Given the description of an element on the screen output the (x, y) to click on. 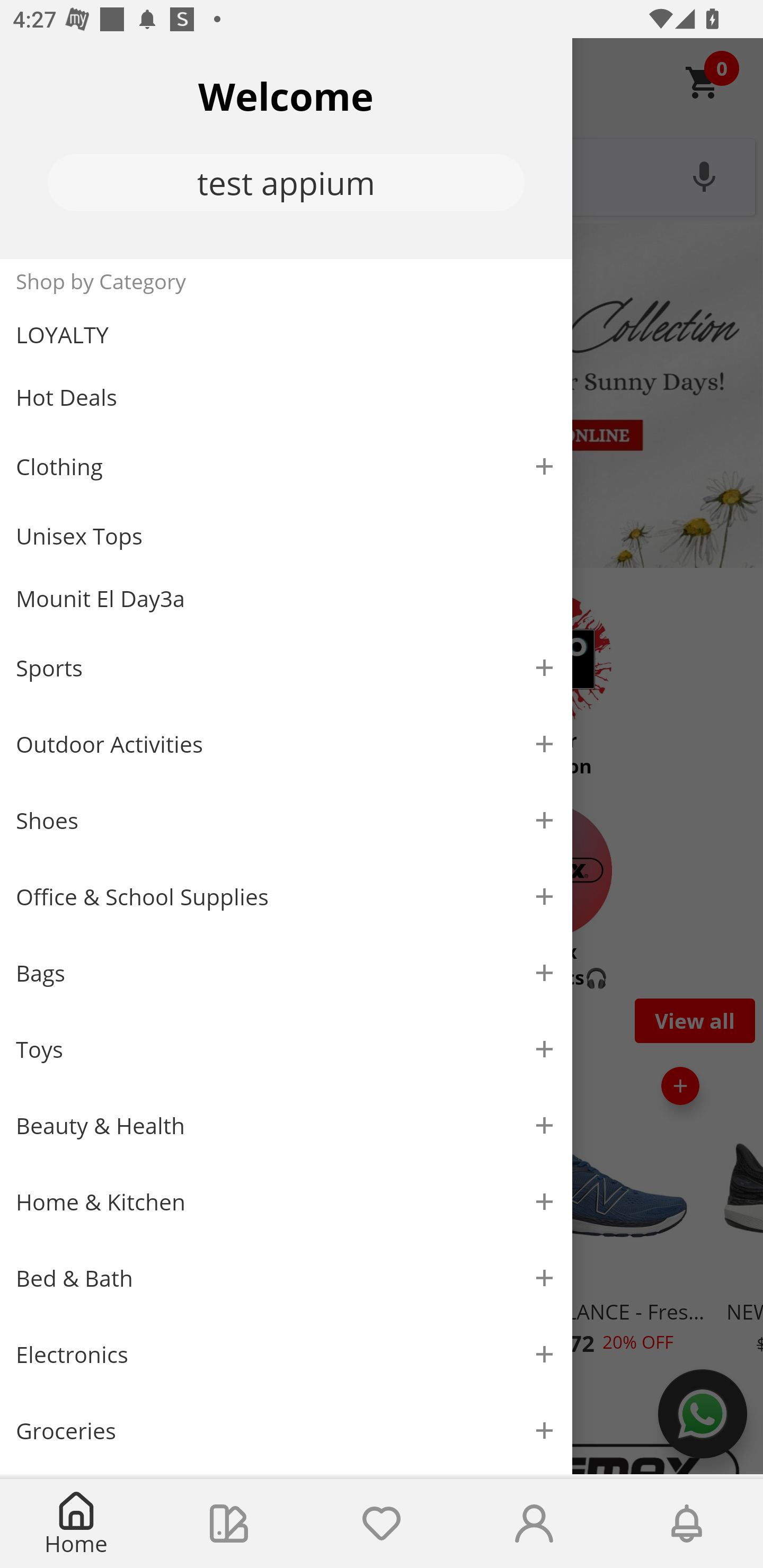
Welcome test appium (286, 147)
What are you looking for? (381, 175)
LOYALTY (286, 334)
Hot Deals (286, 396)
Clothing (286, 466)
Unisex Tops (286, 535)
Mounit El Day3a (286, 598)
Sports (286, 667)
Outdoor Activities (286, 743)
Shoes (286, 820)
Office & School Supplies (286, 896)
Bags (286, 972)
Toys (286, 1049)
Beauty & Health (286, 1125)
Home & Kitchen (286, 1201)
Bed & Bath (286, 1278)
Electronics (286, 1354)
Groceries (286, 1430)
Collections (228, 1523)
Wishlist (381, 1523)
Account (533, 1523)
Notifications (686, 1523)
